Given the description of an element on the screen output the (x, y) to click on. 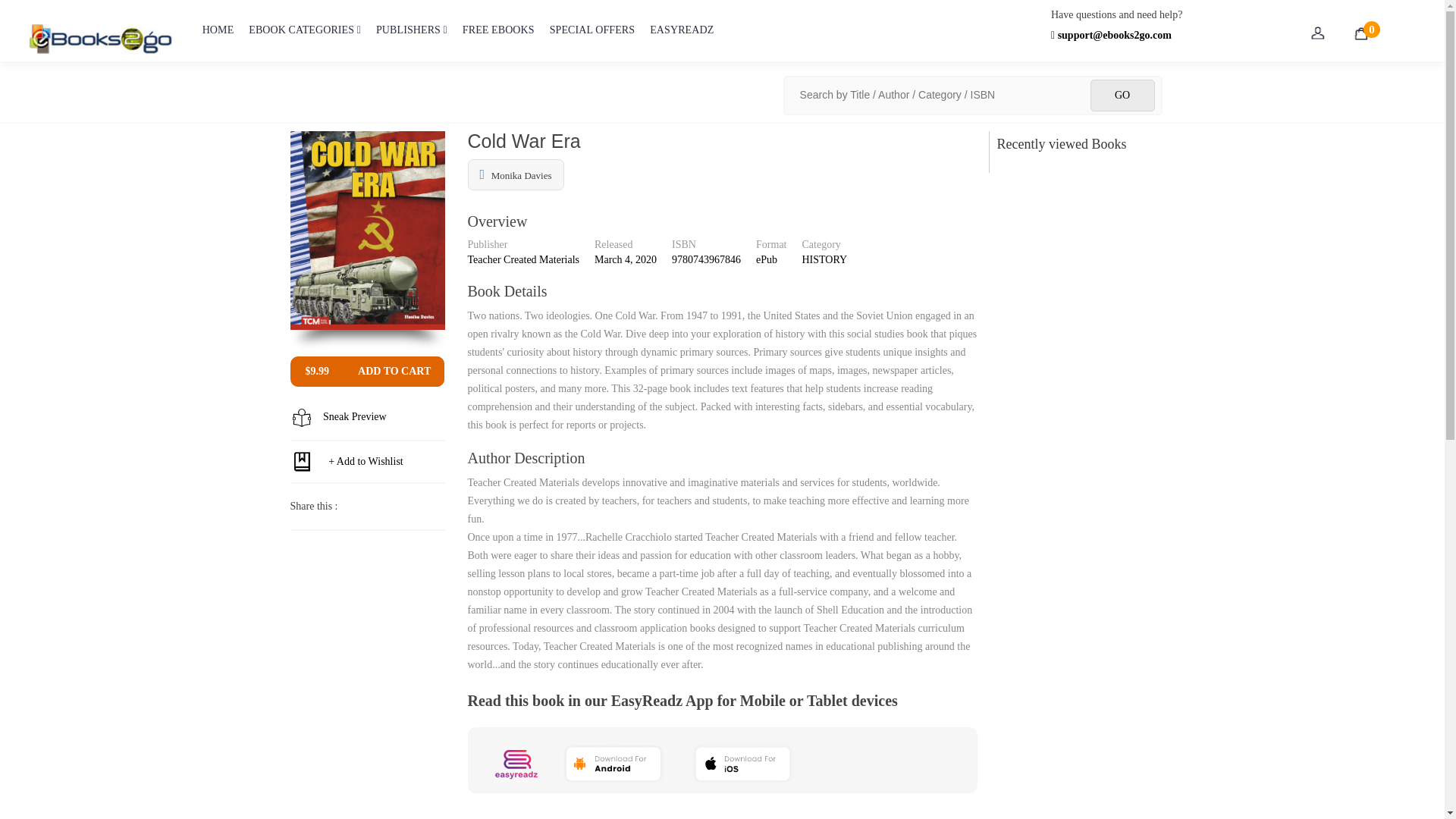
Add to cart (394, 371)
EBOOK CATEGORIES (304, 40)
HOME (218, 40)
GO (1122, 95)
